Given the description of an element on the screen output the (x, y) to click on. 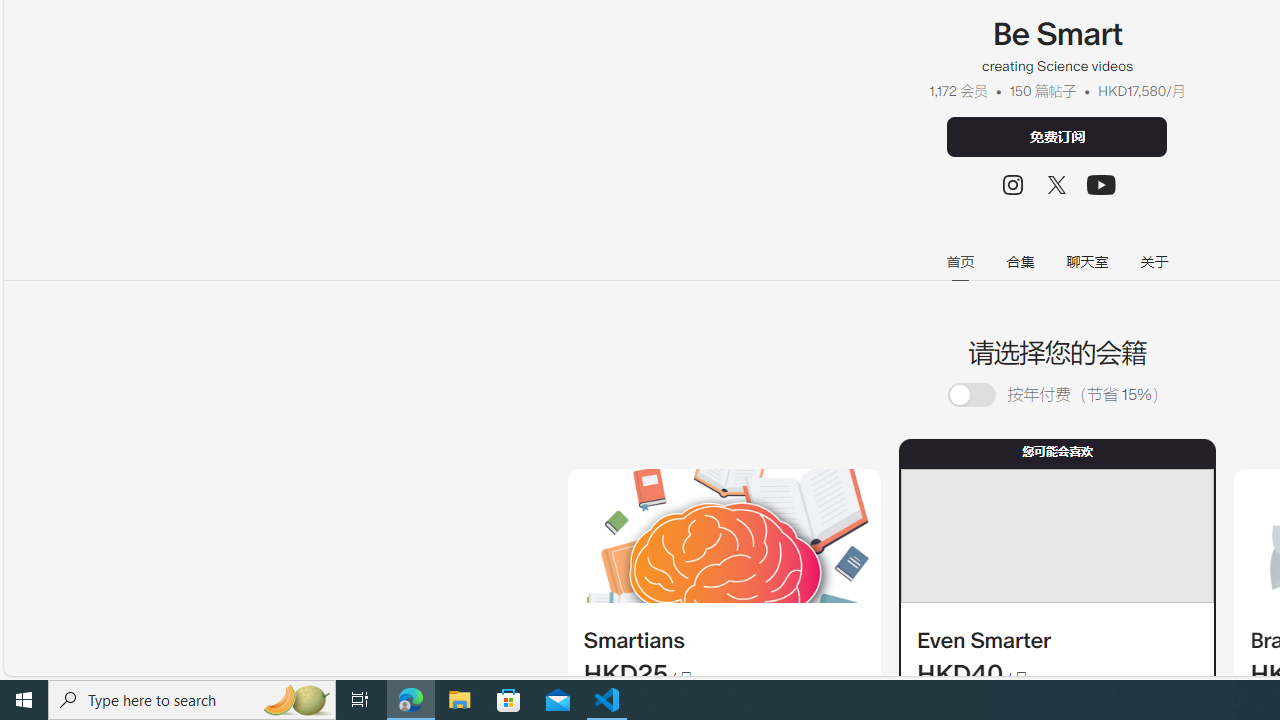
Loading (982, 394)
Loading (971, 395)
